Given the description of an element on the screen output the (x, y) to click on. 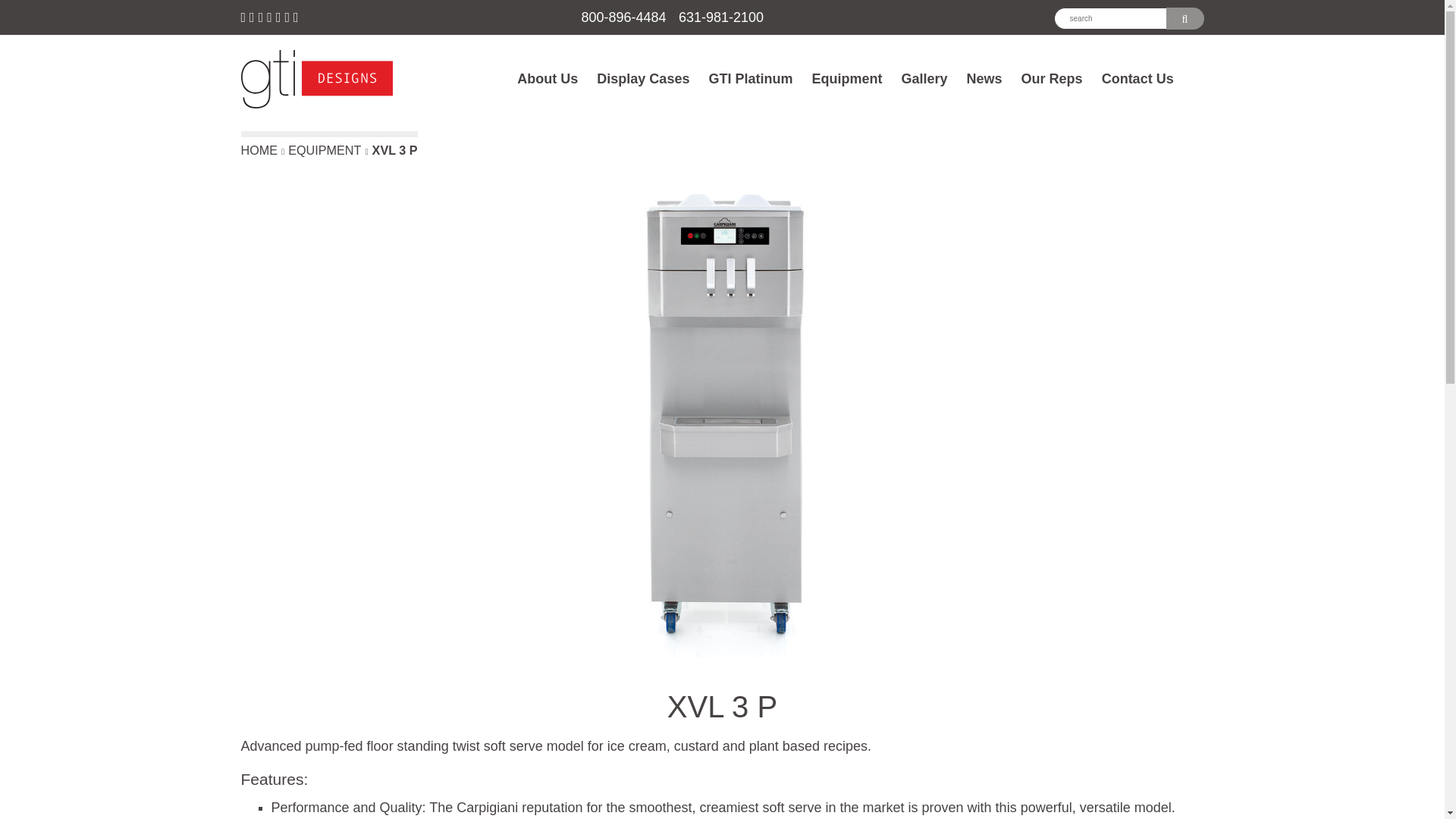
News (984, 78)
GTI Platinum (749, 78)
About Us (547, 78)
800-896-4484 (622, 17)
631-981-2100 (720, 17)
HOME (264, 151)
Contact Us (1137, 78)
Gallery (924, 78)
Display Cases (642, 78)
Search (1185, 18)
